Given the description of an element on the screen output the (x, y) to click on. 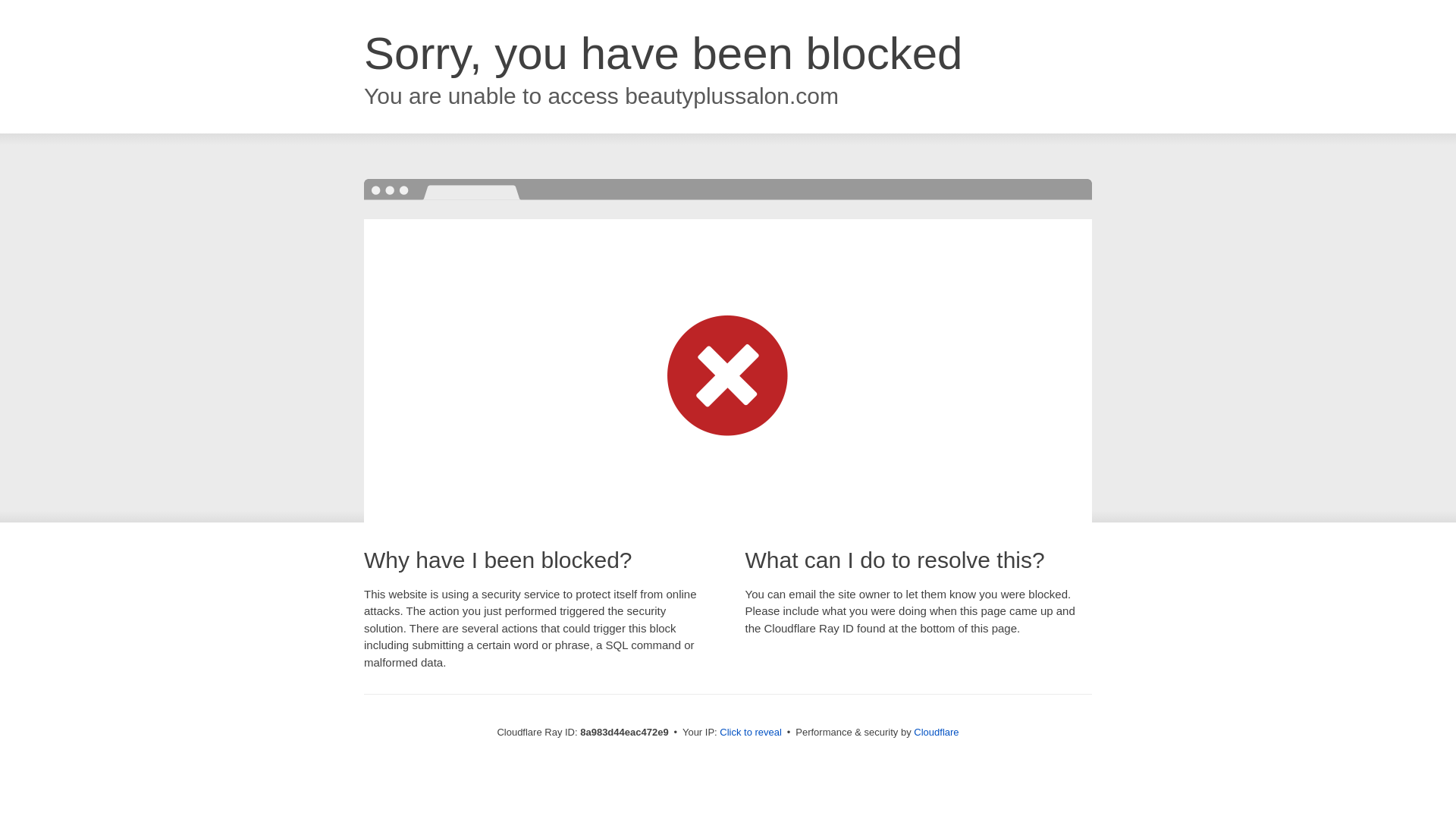
Cloudflare (936, 731)
Click to reveal (750, 732)
